Given the description of an element on the screen output the (x, y) to click on. 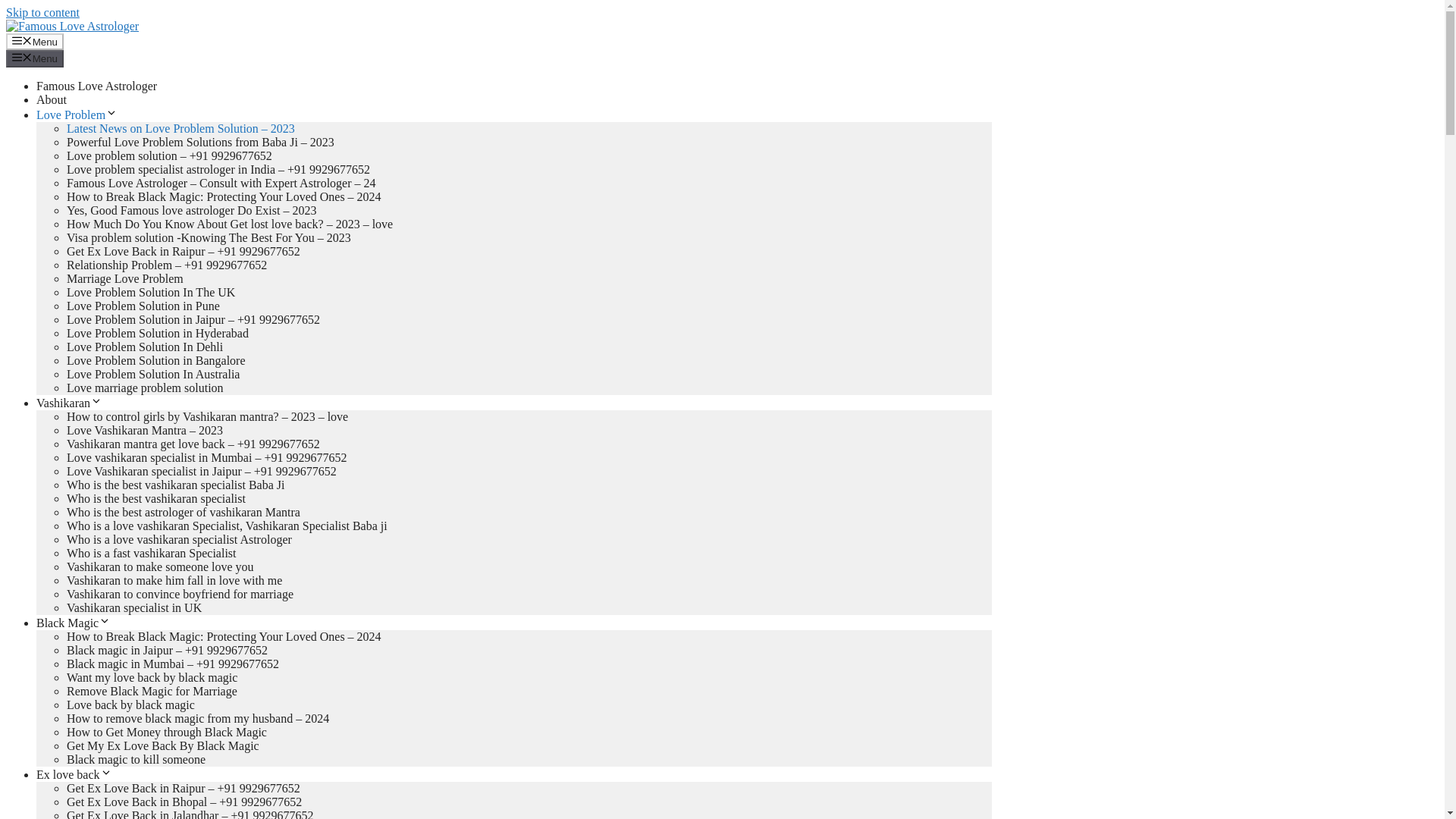
Who is a love vashikaran specialist Astrologer (179, 539)
Who is the best vashikaran specialist (156, 498)
Love Problem Solution In The UK (150, 291)
Who is a fast vashikaran Specialist (150, 553)
Famous Love Astrologer (96, 85)
Menu (34, 57)
Love Problem Solution In Australia (153, 373)
Who is the best astrologer of vashikaran Mantra (182, 512)
Love Problem Solution In Dehli (144, 346)
Skip to content (42, 11)
Love Problem Solution in Pune (142, 305)
Who is the best vashikaran specialist Baba Ji (174, 484)
Vashikaran (68, 402)
Love Problem Solution in Hyderabad (157, 332)
